Given the description of an element on the screen output the (x, y) to click on. 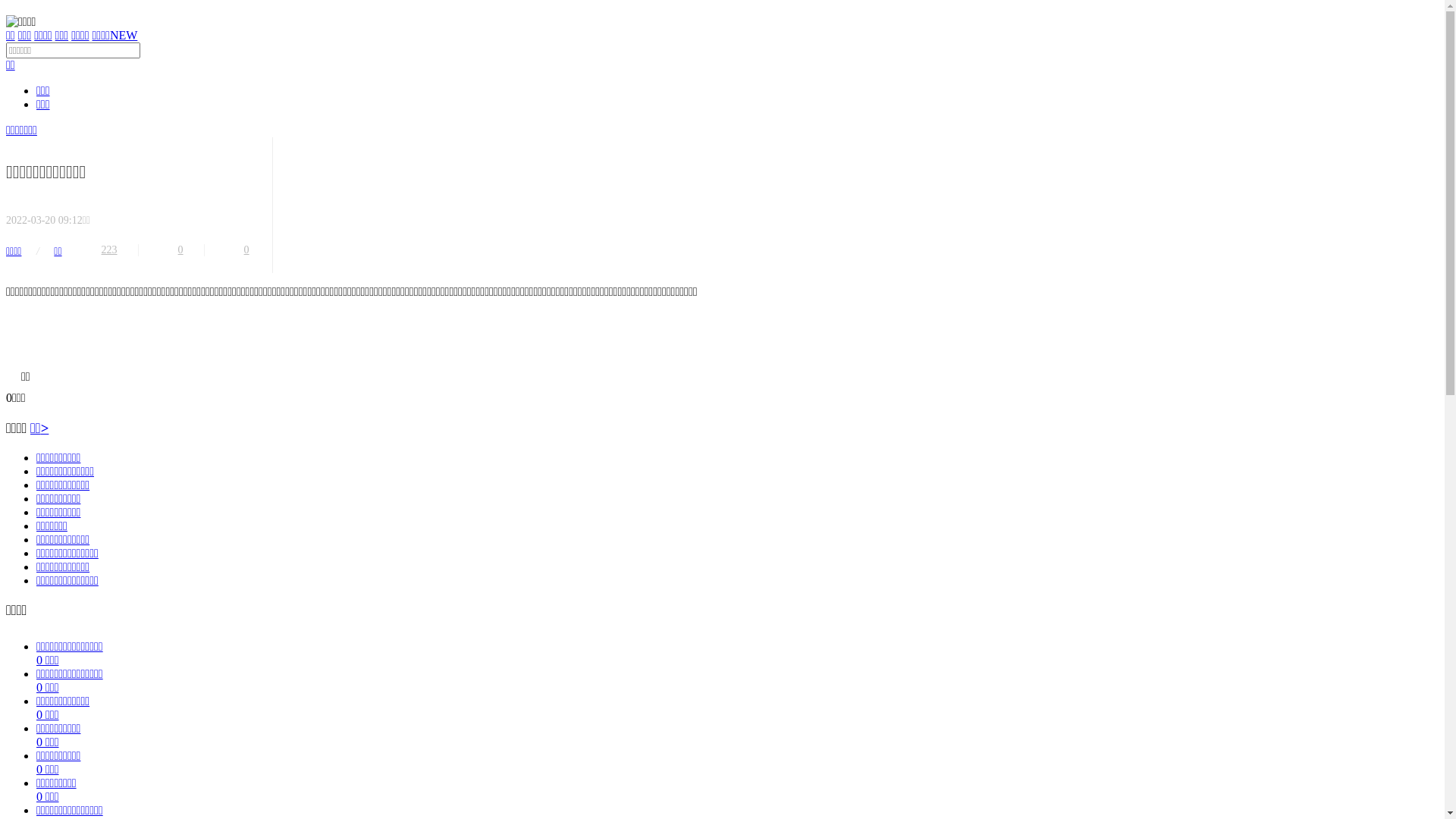
223 Element type: text (110, 250)
0 Element type: text (181, 250)
0 Element type: text (247, 250)
